Given the description of an element on the screen output the (x, y) to click on. 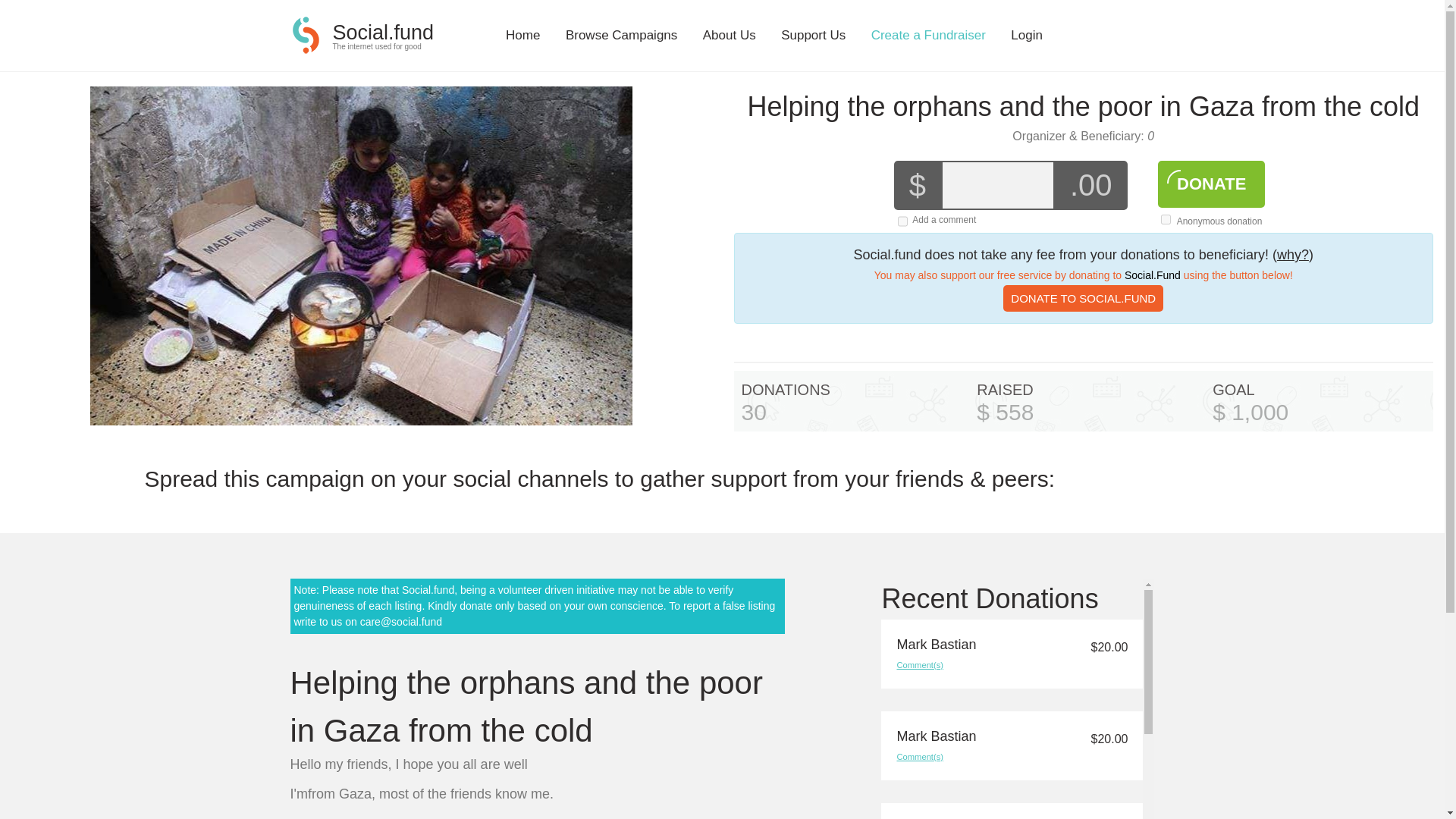
Amount (997, 184)
Support Us (812, 34)
DONATE (1211, 184)
About Us (729, 34)
Create a Fundraiser (927, 34)
Home (522, 34)
Browse Campaigns (621, 34)
why? (1292, 254)
Login (1026, 34)
